Given the description of an element on the screen output the (x, y) to click on. 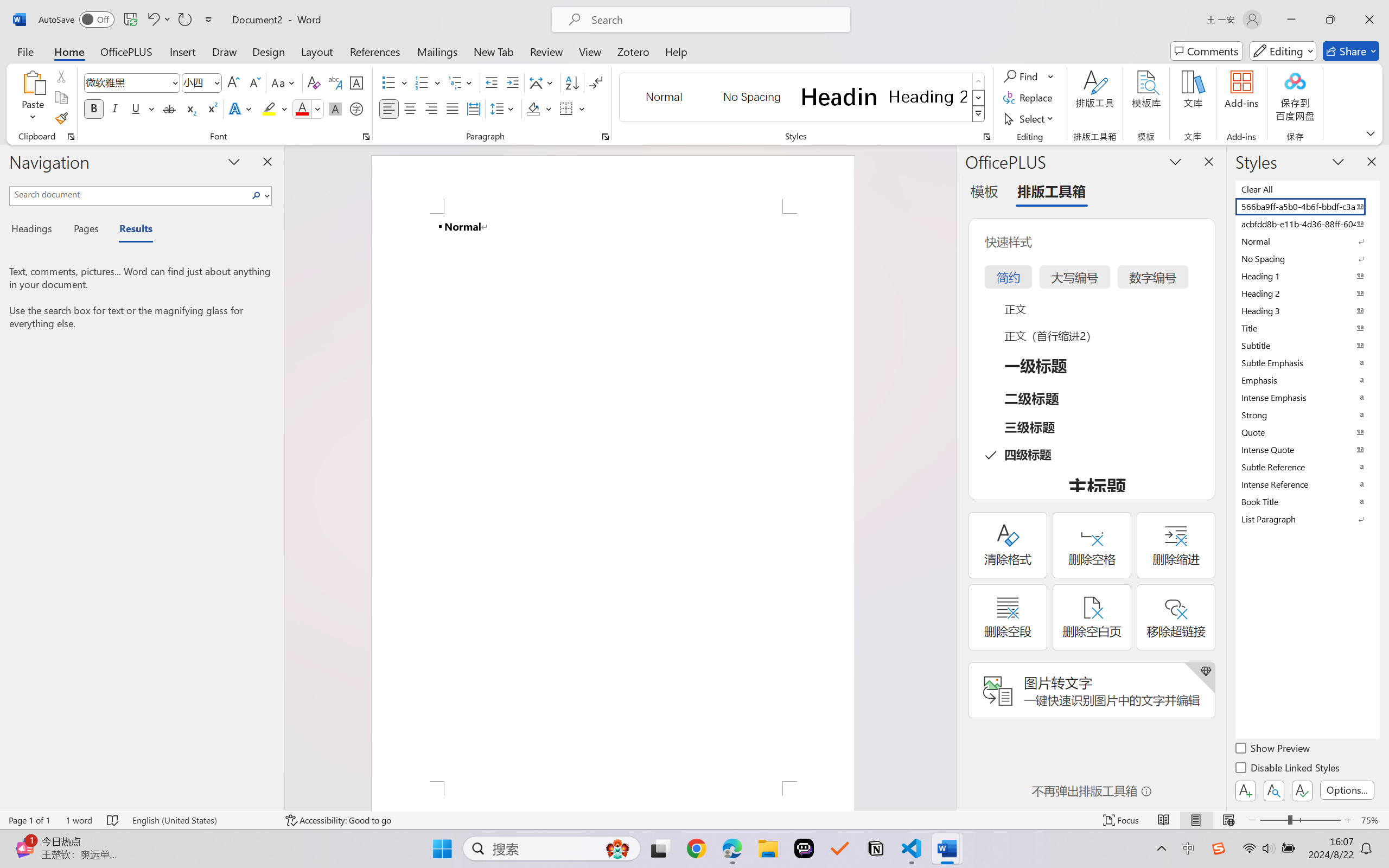
Search (259, 195)
Repeat Text Fill Effect (184, 19)
Underline (142, 108)
Character Shading (334, 108)
Font Color Red (302, 108)
Show/Hide Editing Marks (595, 82)
Borders (571, 108)
Subscript (190, 108)
Format Painter (60, 118)
Italic (115, 108)
Customize Quick Access Toolbar (208, 19)
